Given the description of an element on the screen output the (x, y) to click on. 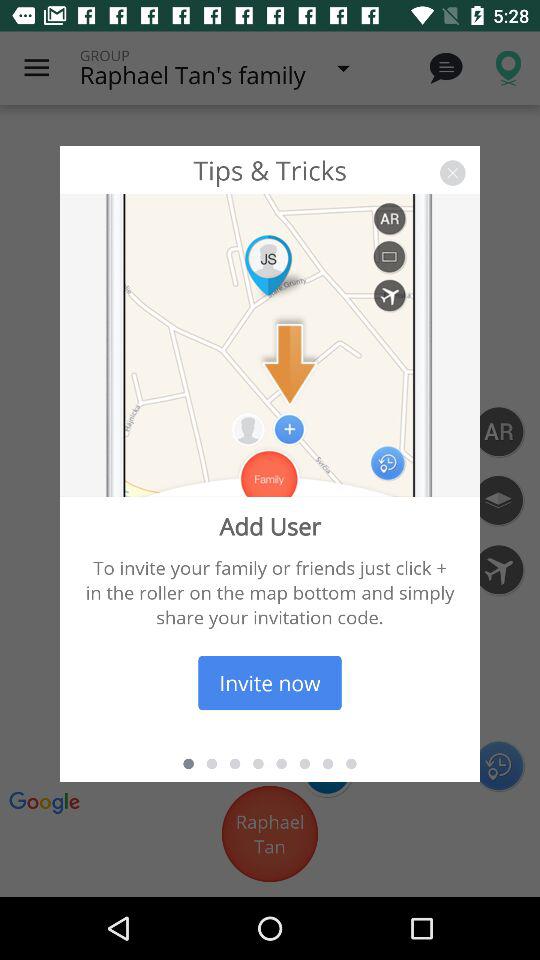
click the item at the top right corner (452, 172)
